Given the description of an element on the screen output the (x, y) to click on. 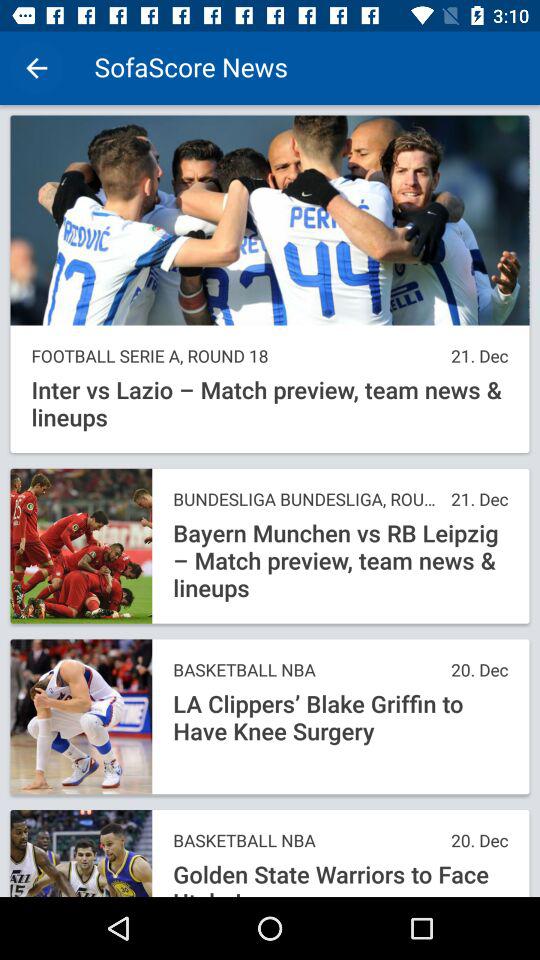
scroll to the inter vs lazio icon (269, 404)
